Given the description of an element on the screen output the (x, y) to click on. 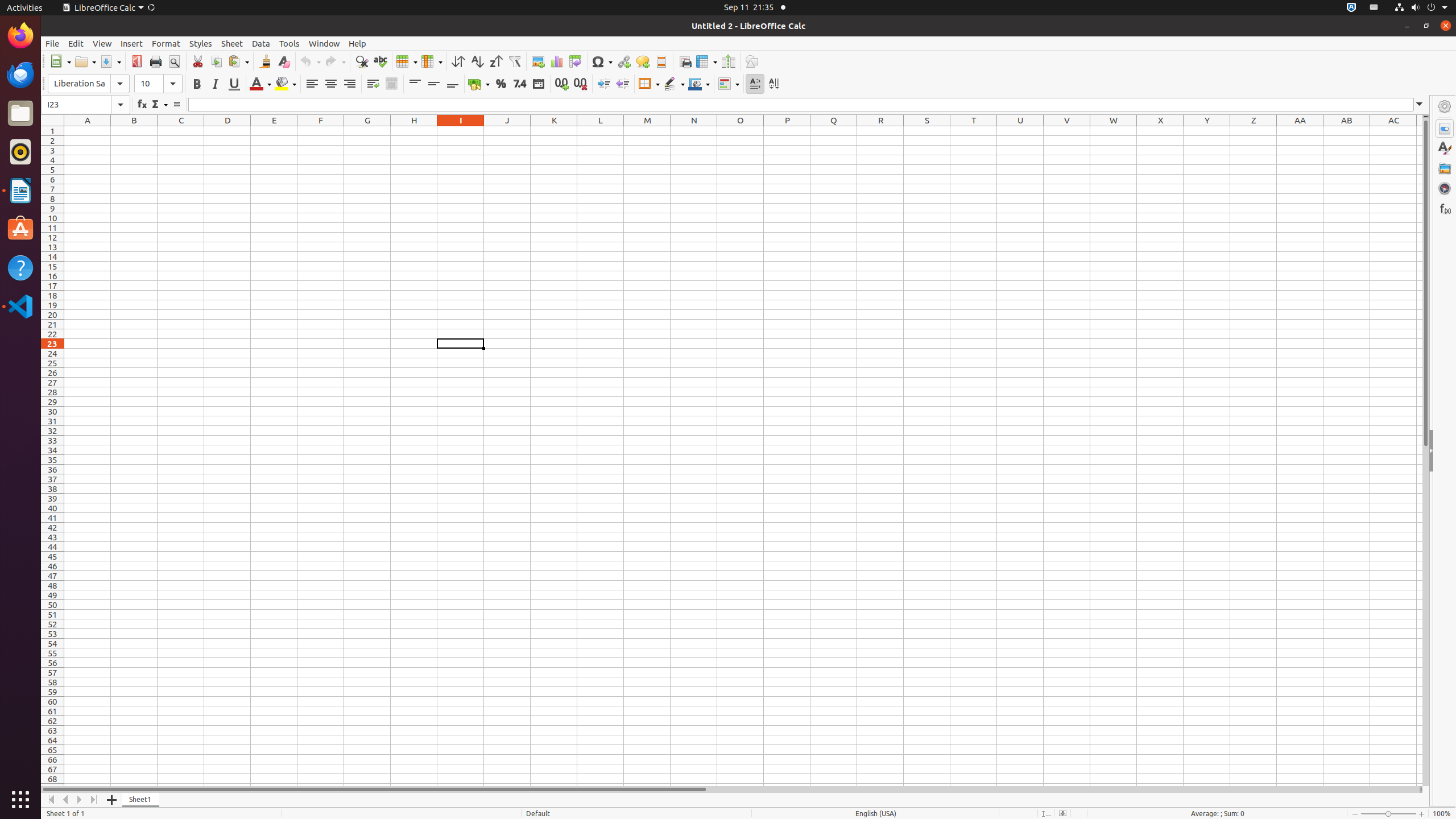
AC1 Element type: table-cell (1393, 130)
Sort Ascending Element type: push-button (476, 61)
Chart Element type: push-button (556, 61)
Align Right Element type: push-button (349, 83)
Format Element type: menu (165, 43)
